Given the description of an element on the screen output the (x, y) to click on. 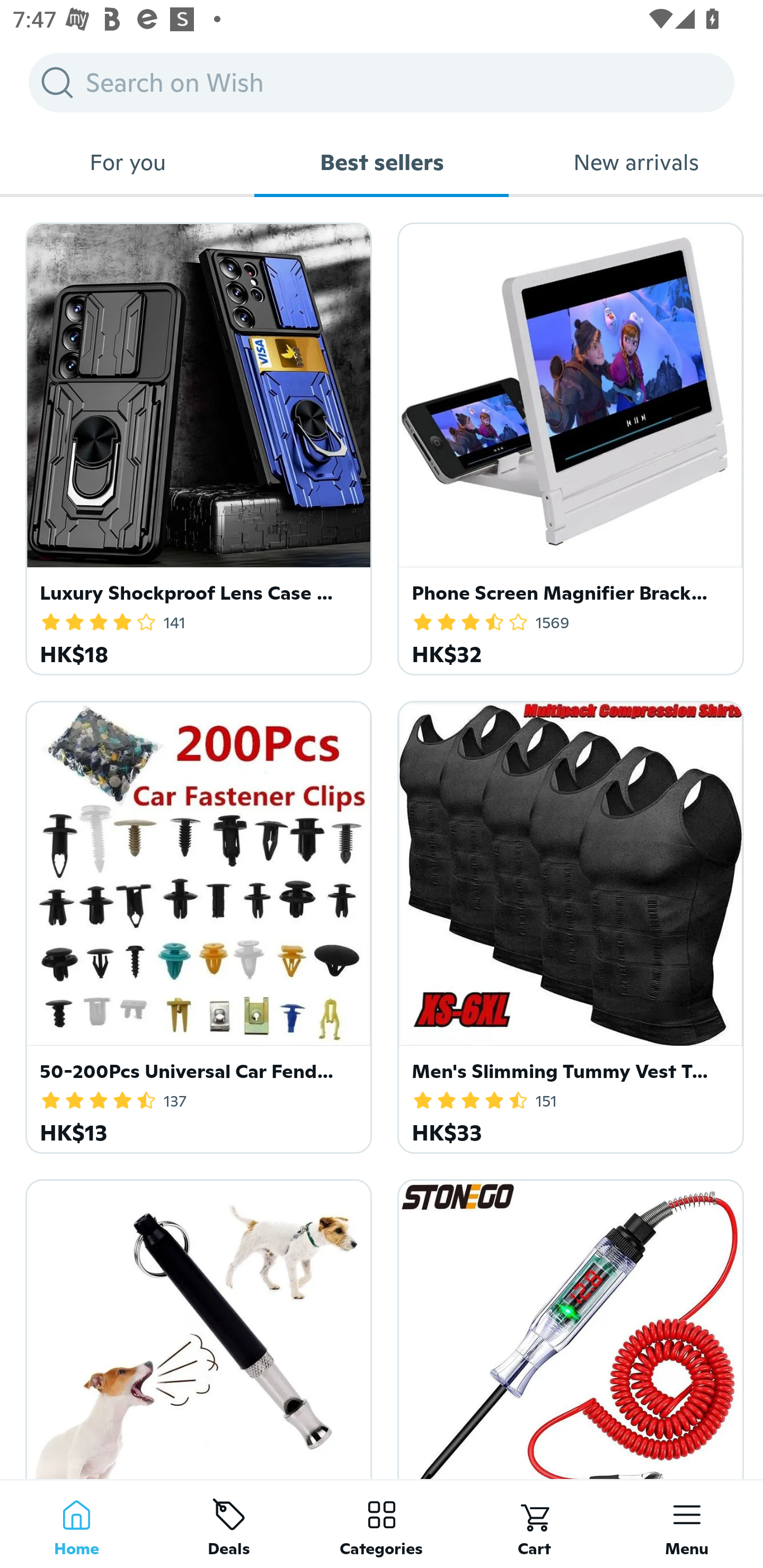
Search on Wish (381, 82)
For you (127, 161)
Best sellers (381, 161)
New arrivals (635, 161)
Home (76, 1523)
Deals (228, 1523)
Categories (381, 1523)
Cart (533, 1523)
Menu (686, 1523)
